Given the description of an element on the screen output the (x, y) to click on. 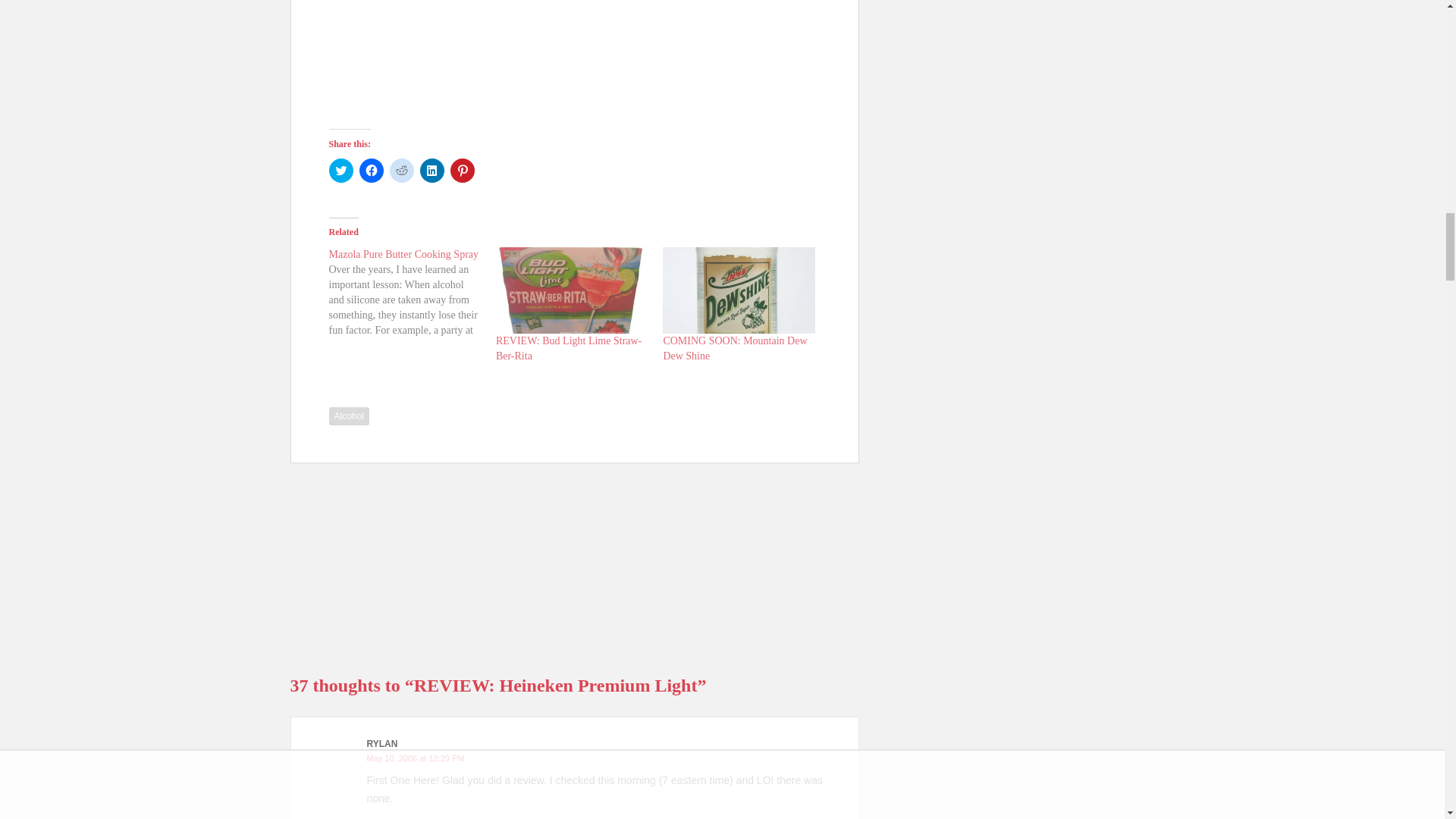
REVIEW: Bud Light Lime Straw-Ber-Rita (569, 347)
Click to share on LinkedIn (432, 170)
Mazola Pure Butter Cooking Spray (412, 292)
Mazola Pure Butter Cooking Spray (404, 254)
Click to share on Reddit (401, 170)
REVIEW: Bud Light Lime Straw-Ber-Rita (569, 347)
May 10, 2006 at 12:29 PM (415, 757)
COMING SOON: Mountain Dew Dew Shine (734, 347)
REVIEW: Bud Light Lime Straw-Ber-Rita (571, 290)
Click to share on Pinterest (461, 170)
Click to share on Twitter (341, 170)
Click to share on Facebook (371, 170)
COMING SOON: Mountain Dew Dew Shine (737, 290)
Alcohol (349, 416)
